Given the description of an element on the screen output the (x, y) to click on. 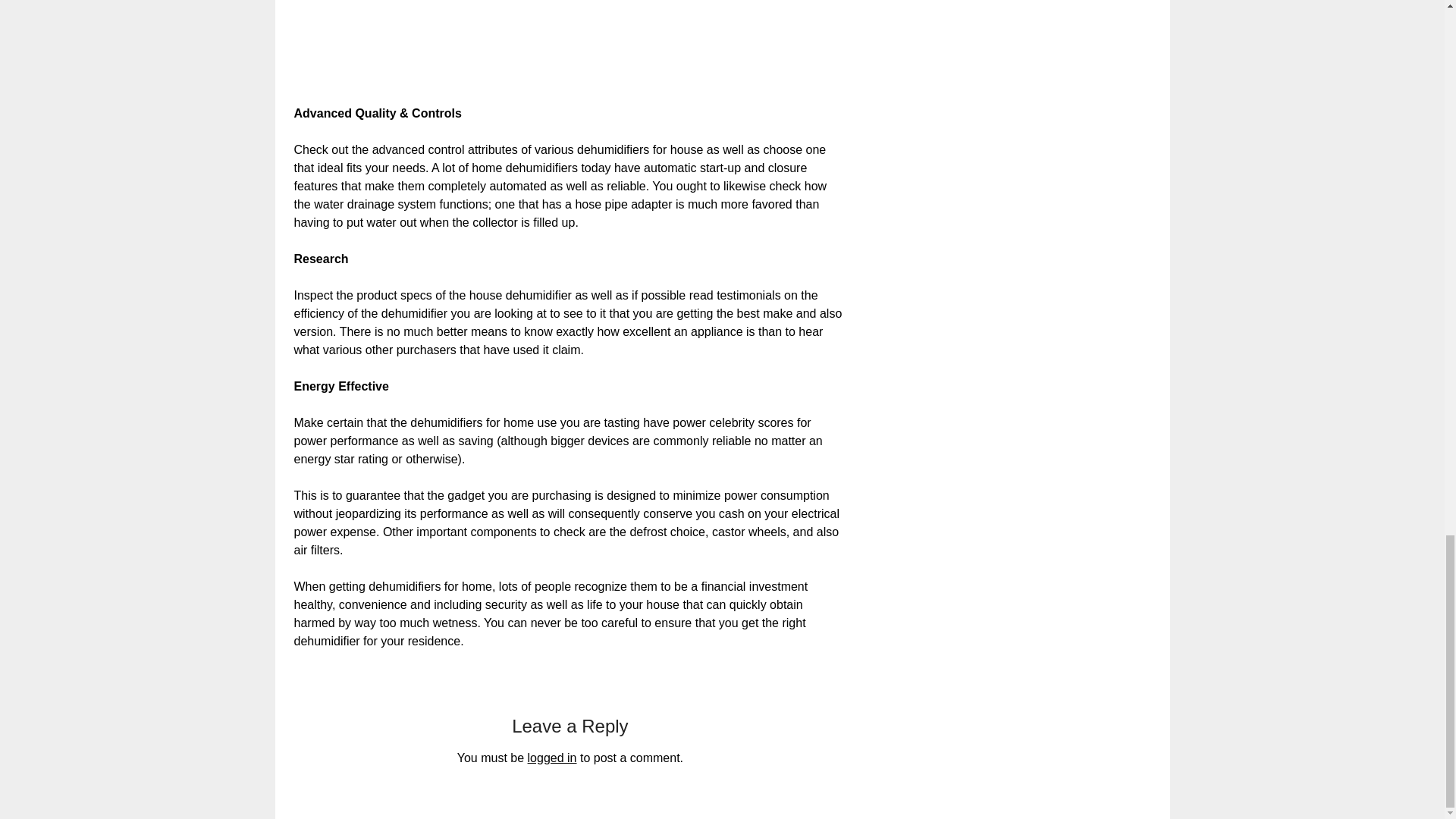
logged in (551, 757)
